Given the description of an element on the screen output the (x, y) to click on. 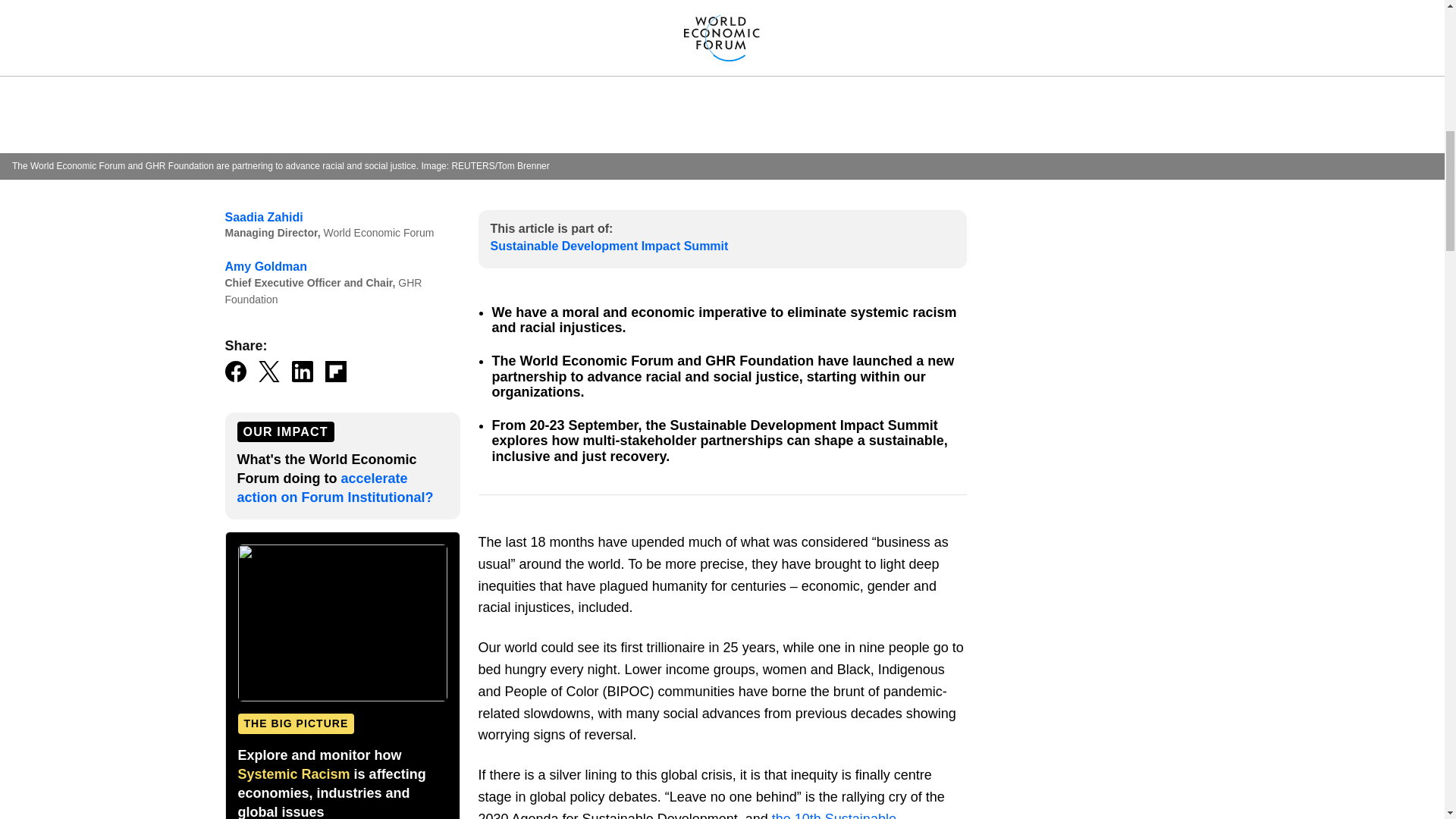
the 10th Sustainable Development Goal (686, 815)
Saadia Zahidi (263, 216)
Sustainable Development Impact Summit (608, 245)
Amy Goldman (264, 266)
